Given the description of an element on the screen output the (x, y) to click on. 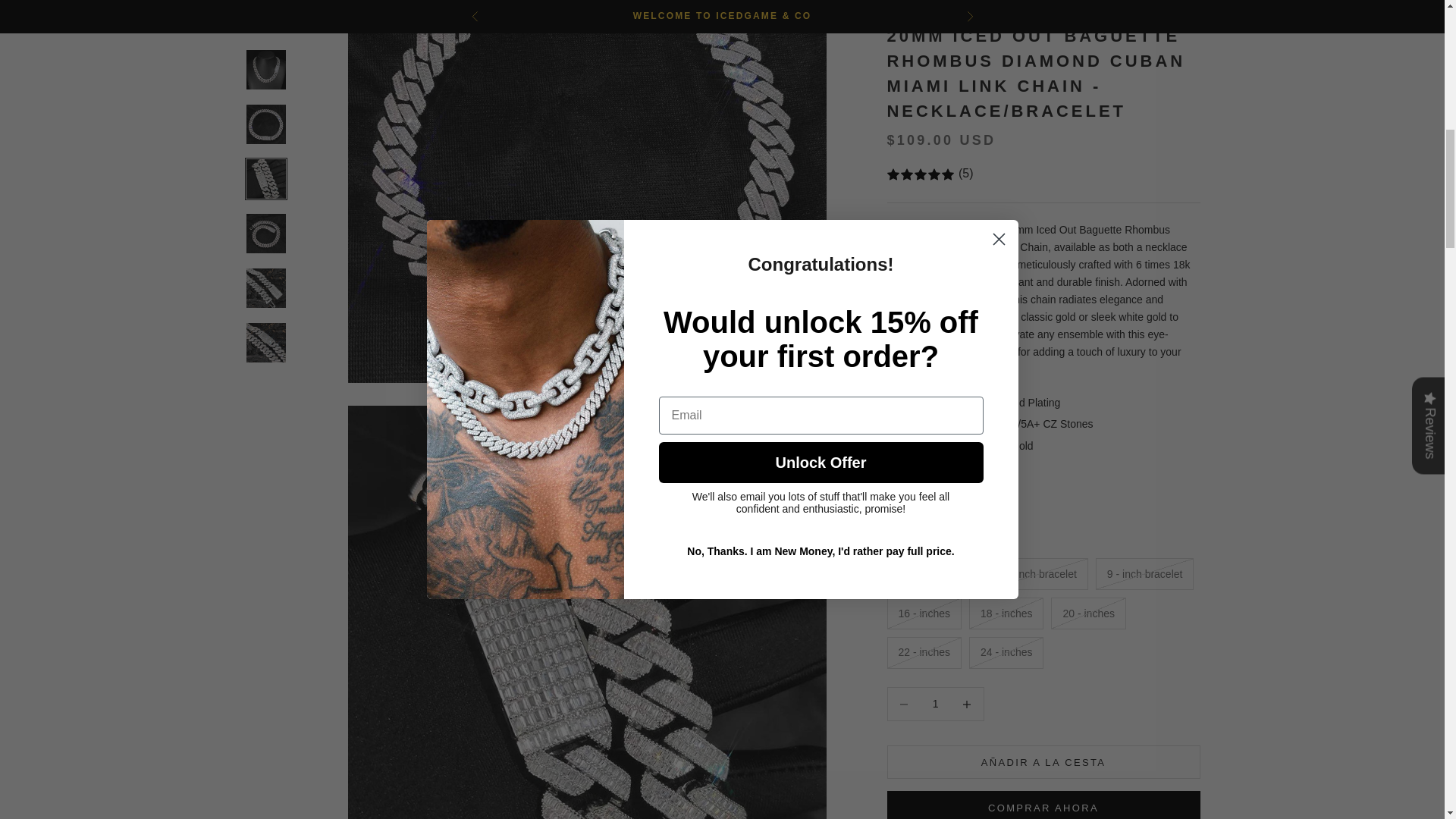
1 (935, 106)
